Given the description of an element on the screen output the (x, y) to click on. 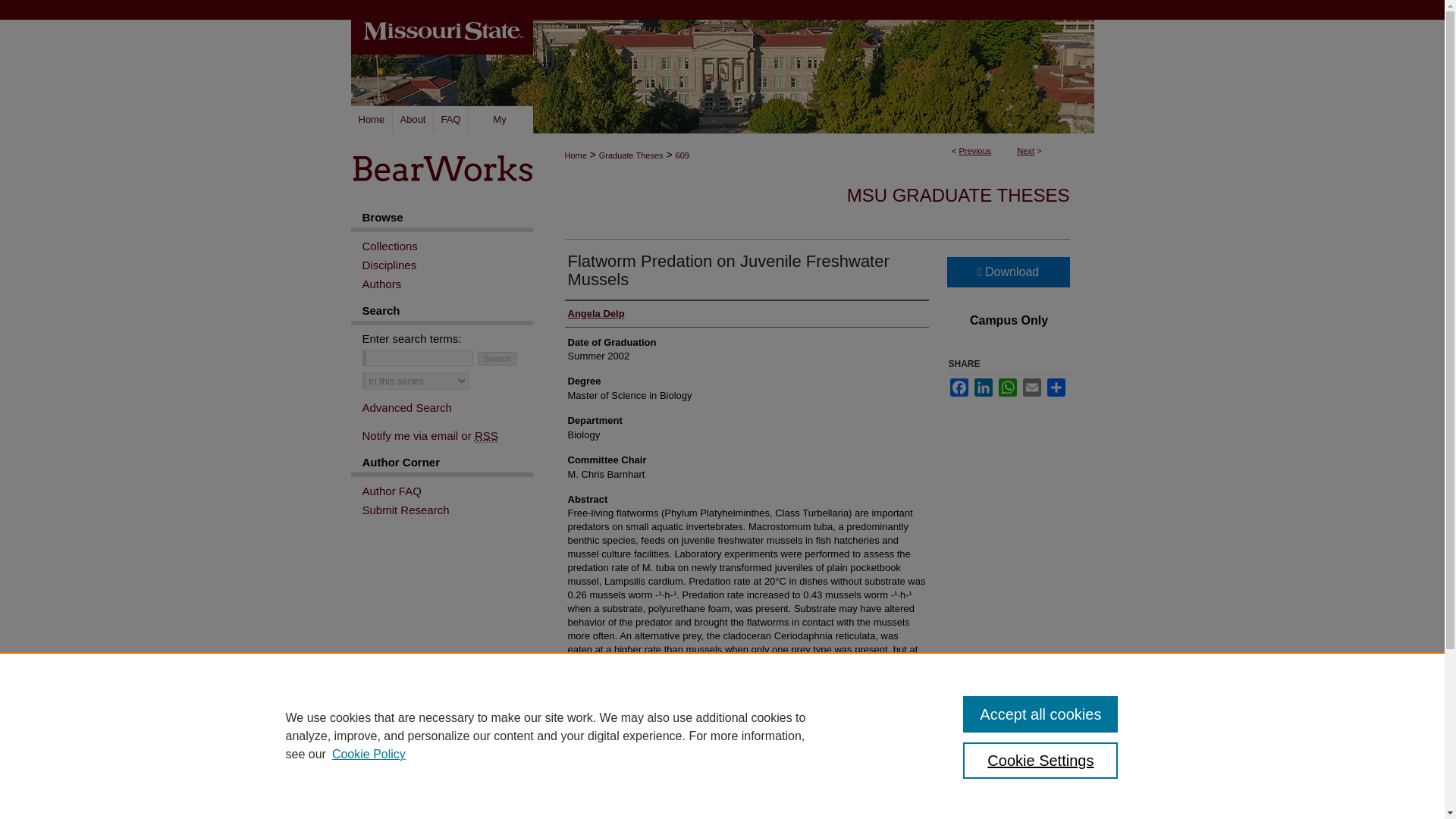
MSU GRADUATE THESES (958, 195)
Really Simple Syndication (485, 436)
Home (575, 154)
609 (681, 154)
My Account (499, 119)
Download (1007, 272)
Search (496, 358)
My Account (499, 119)
FAQ (450, 119)
Notify me via email or RSS (447, 435)
Email (1031, 387)
Submit Research (447, 509)
Browse by Author (447, 283)
WhatsApp (1006, 387)
Email or RSS Notifications (447, 435)
